Given the description of an element on the screen output the (x, y) to click on. 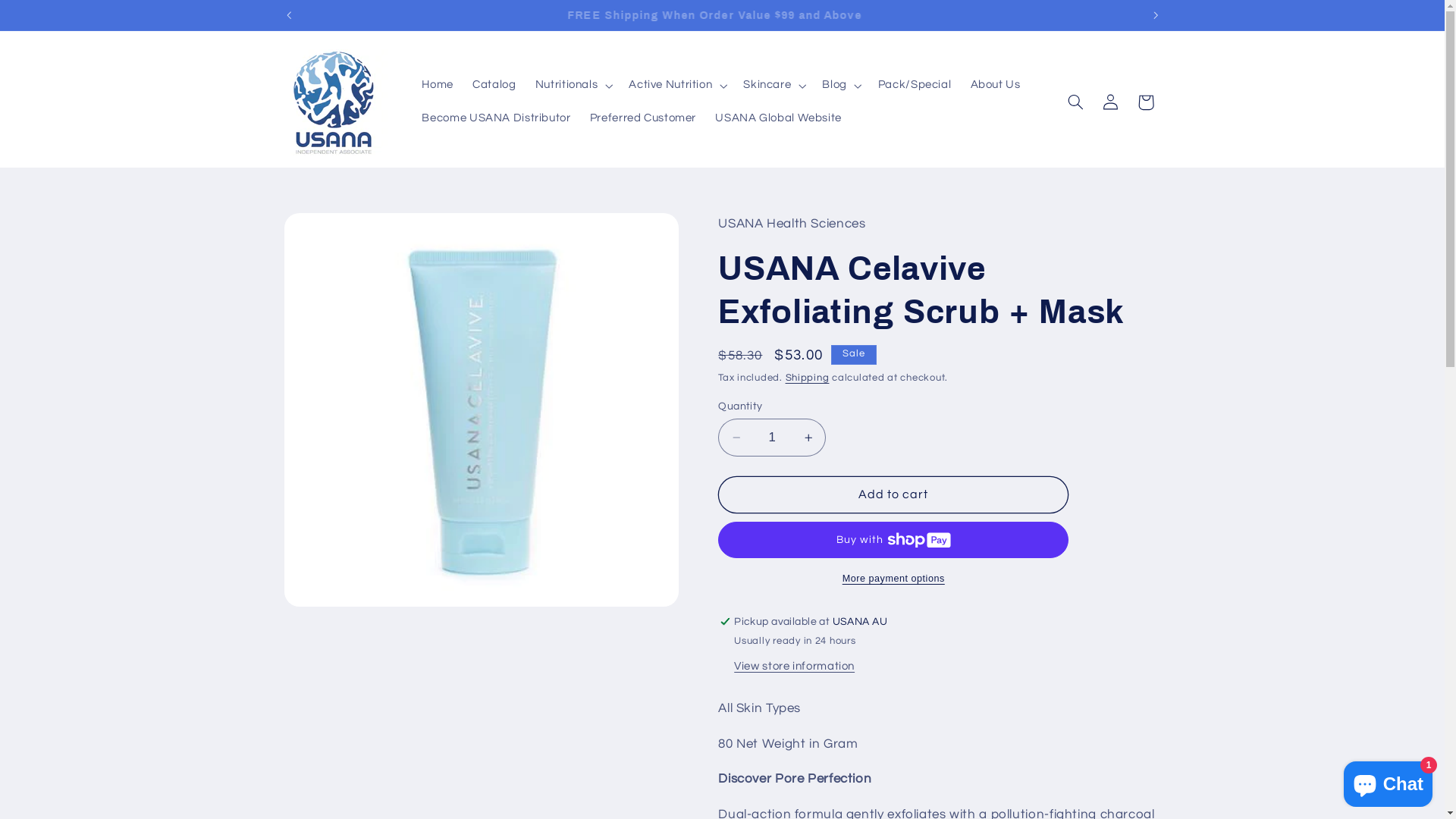
Pack/Special Element type: text (914, 85)
Preferred Customer Element type: text (643, 118)
Become USANA Distributor Element type: text (496, 118)
USANA Global Website Element type: text (778, 118)
Skip to product information Element type: text (331, 230)
View store information Element type: text (794, 666)
Cart Element type: text (1145, 101)
More payment options Element type: text (893, 578)
Log in Element type: text (1110, 101)
Home Element type: text (437, 85)
Shipping Element type: text (807, 377)
Catalog Element type: text (494, 85)
Shopify online store chat Element type: hover (1388, 780)
About Us Element type: text (994, 85)
Add to cart Element type: text (893, 494)
